Given the description of an element on the screen output the (x, y) to click on. 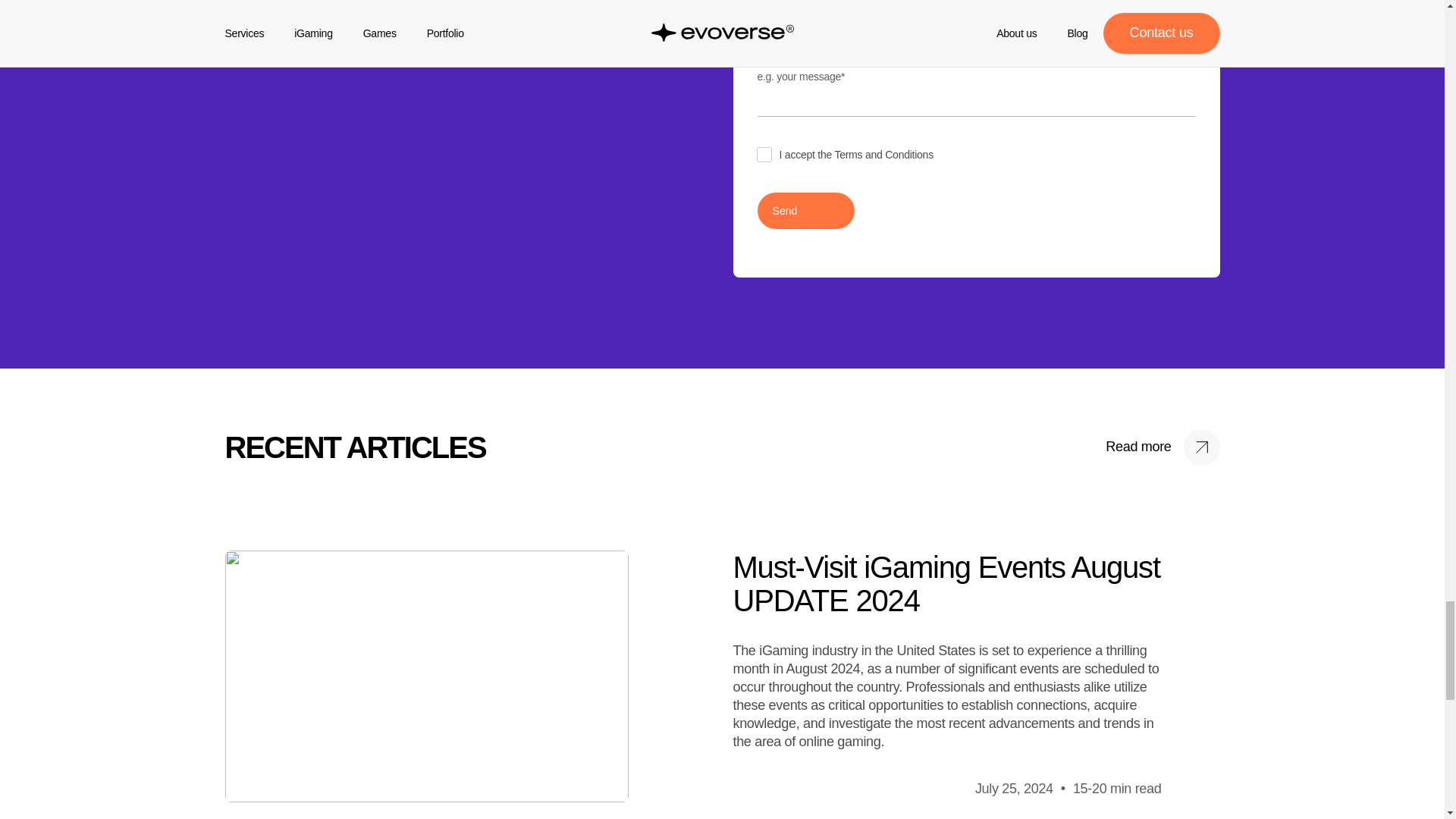
Send (805, 210)
Send (805, 210)
Read more (1162, 447)
